Given the description of an element on the screen output the (x, y) to click on. 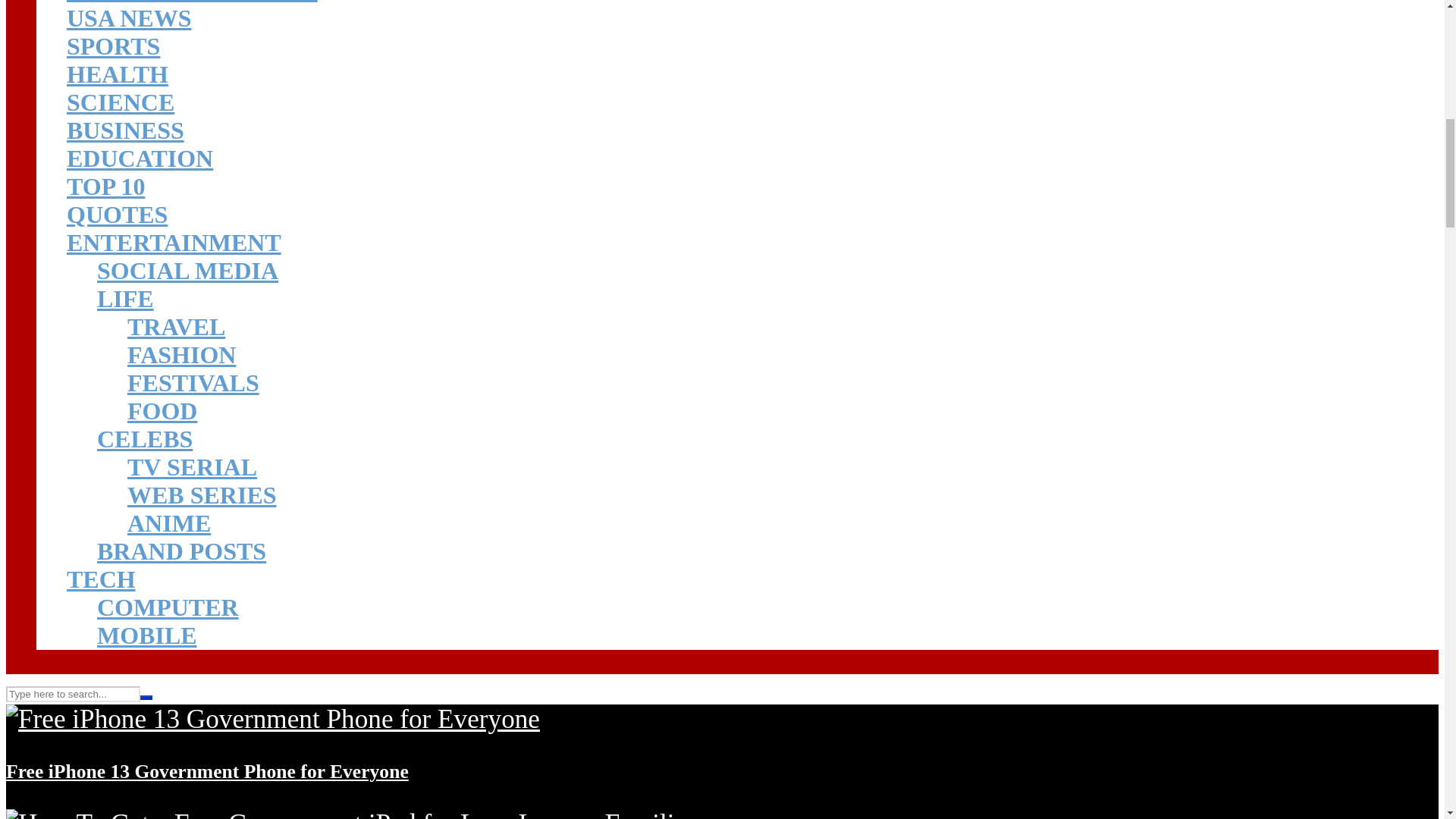
FASHION (181, 354)
How To Get a Free Government iPad for Low-Income Families (351, 814)
SPORTS (113, 45)
TRAVEL (176, 326)
FESTIVALS (193, 382)
EDUCATION (139, 157)
Free iPhone 13 Government Phone for Everyone (272, 718)
SOCIAL MEDIA (187, 270)
USA NEWS (129, 17)
TOP 10 (105, 185)
NEWS AND POLITICS (191, 2)
QUOTES (116, 214)
ENTERTAINMENT (173, 242)
SCIENCE (120, 102)
HEALTH (117, 73)
